Given the description of an element on the screen output the (x, y) to click on. 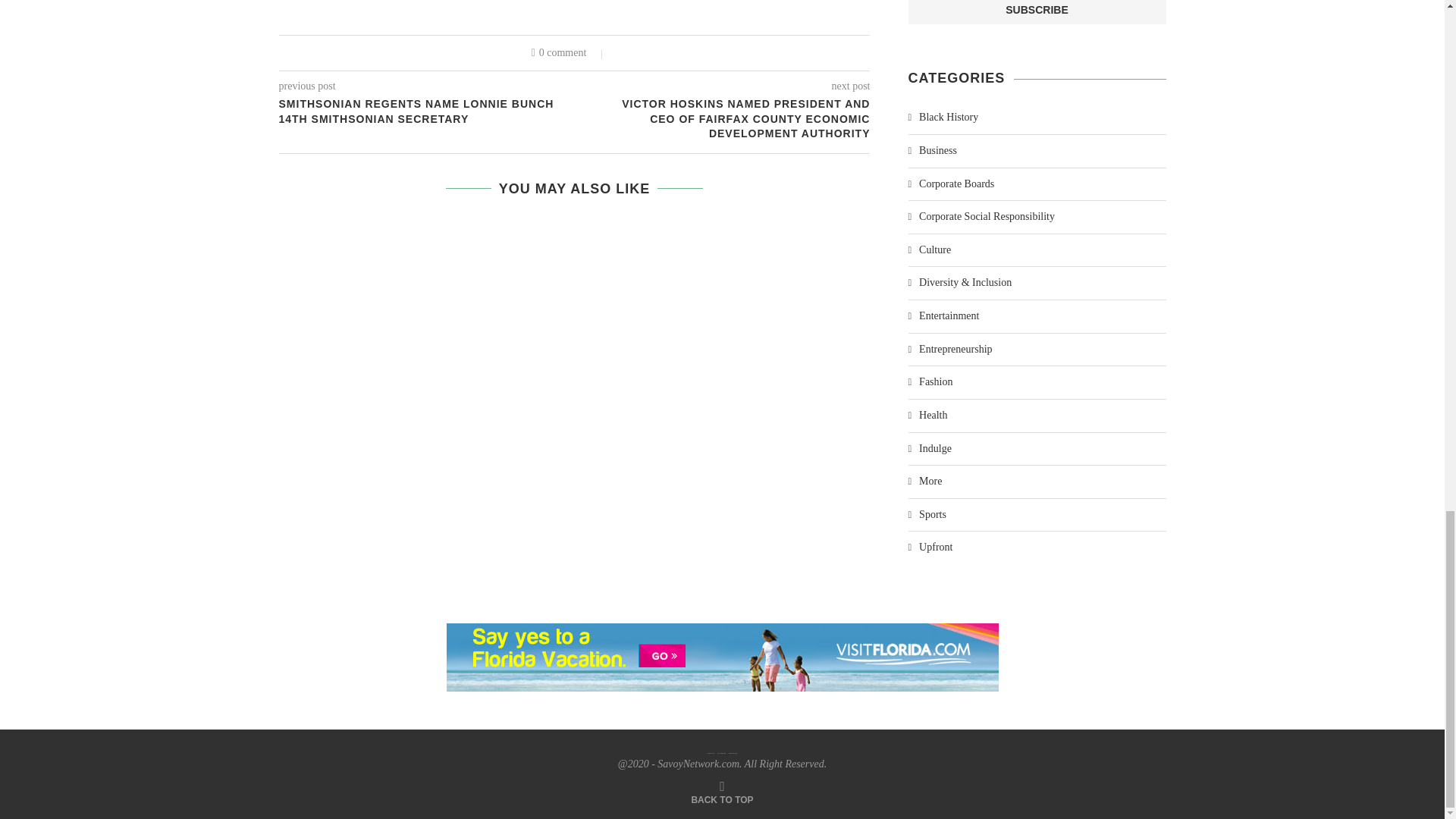
Subscribe (1037, 12)
